Given the description of an element on the screen output the (x, y) to click on. 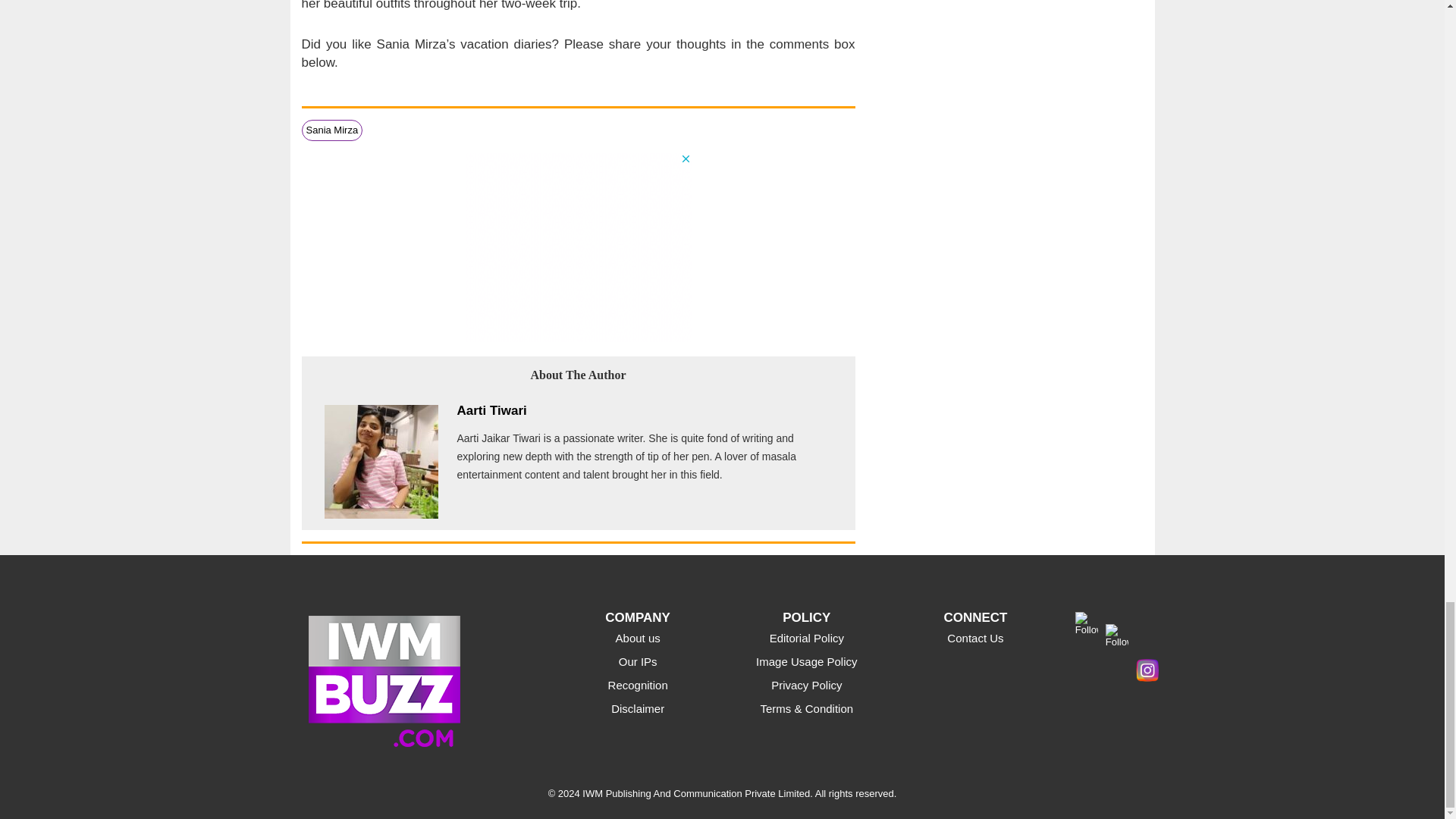
Sania Mirza (331, 129)
3rd party ad content (577, 247)
Aarti Tiwari (491, 410)
